Given the description of an element on the screen output the (x, y) to click on. 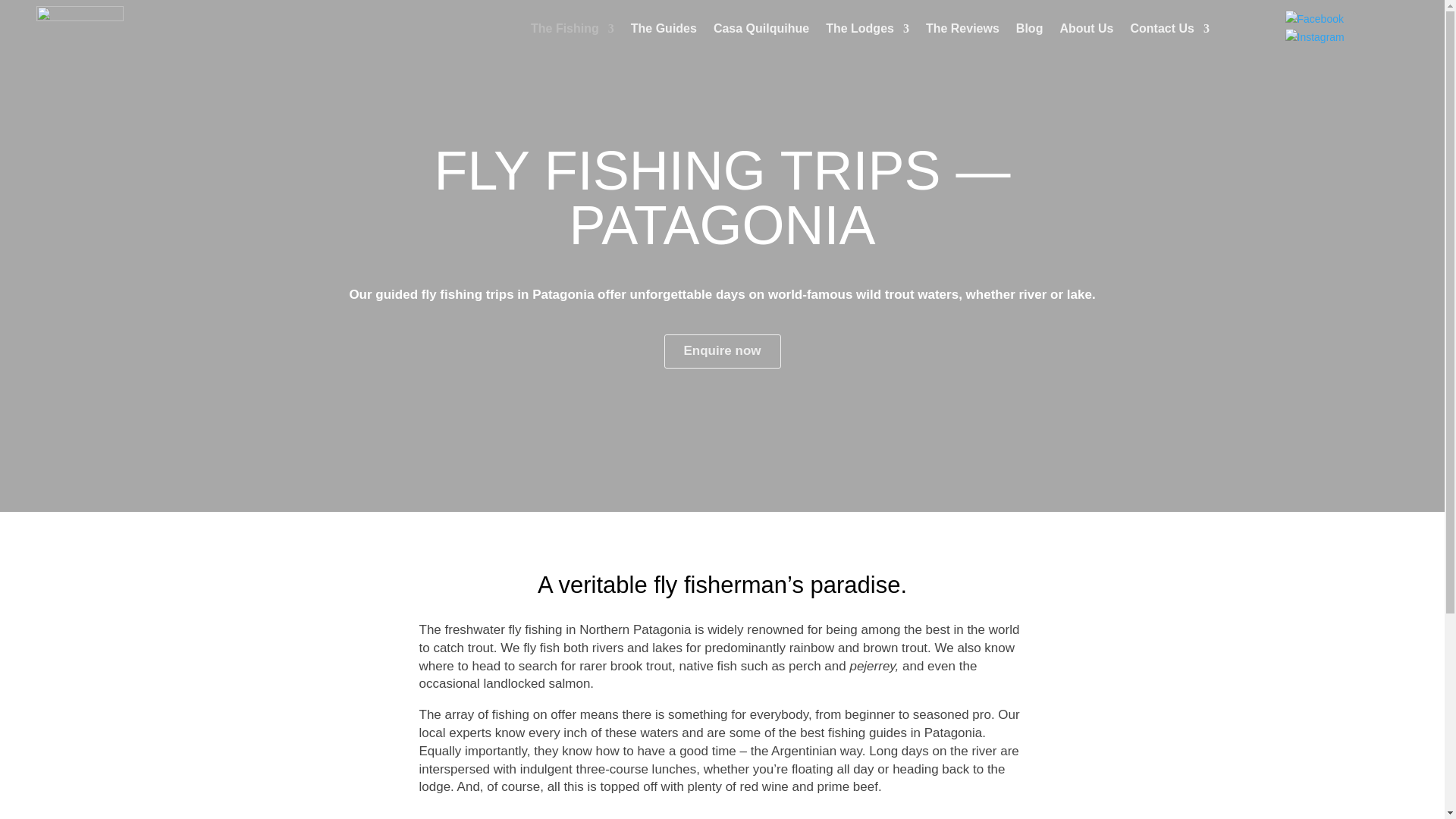
Casa Quilquihue (761, 28)
Enquire now (721, 351)
The Reviews (962, 28)
The Lodges (866, 28)
About Us (1086, 28)
Contact Us (1170, 28)
The Guides (663, 28)
The Fishing (572, 28)
